Given the description of an element on the screen output the (x, y) to click on. 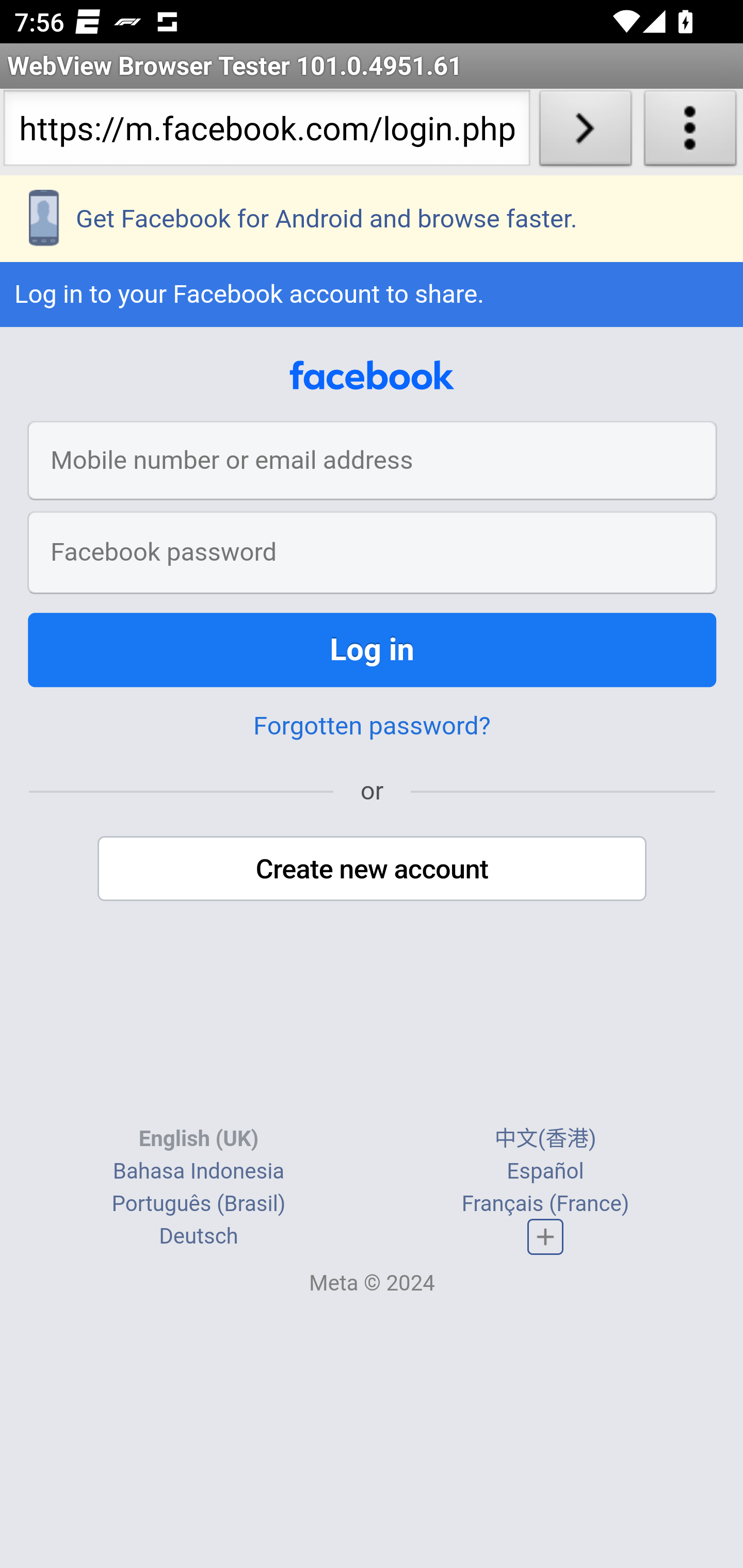
Load URL (585, 132)
About WebView (690, 132)
Get Facebook for Android and browse faster. (371, 219)
facebook (372, 375)
Log in (372, 649)
Forgotten password? (371, 725)
Create new account (372, 868)
中文(香港) (544, 1138)
Bahasa Indonesia (198, 1170)
Español (545, 1170)
Português (Brasil) (197, 1203)
Français (France) (544, 1203)
Complete list of languages (545, 1235)
Deutsch (198, 1236)
